Given the description of an element on the screen output the (x, y) to click on. 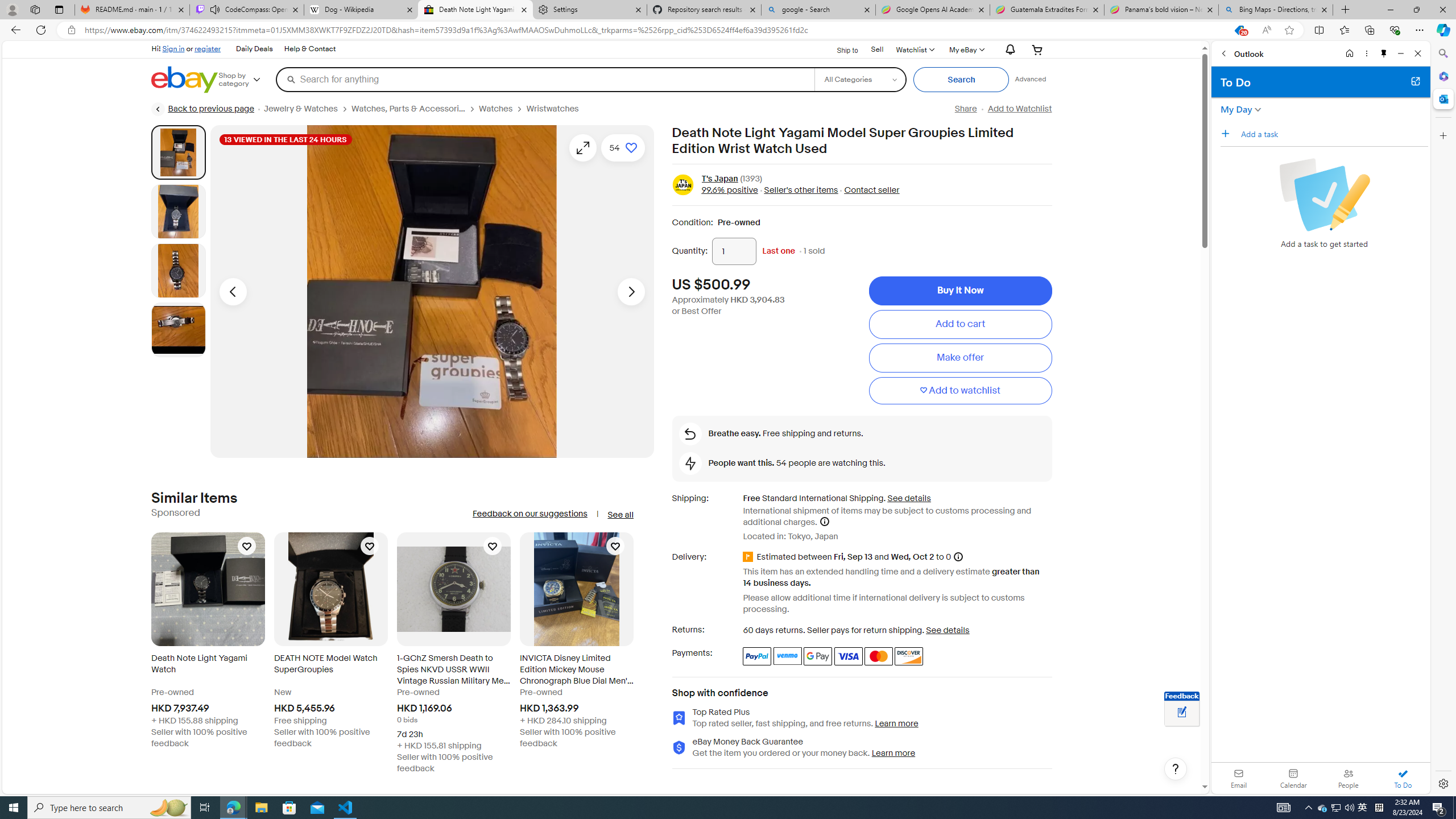
Picture 3 of 4 (178, 270)
T's Japan (719, 179)
Share (964, 108)
Contact seller (871, 190)
Checkbox with a pencil (1324, 194)
Master Card (877, 656)
Ship to (839, 50)
Your shopping cart (1037, 49)
Feedback on our suggestions (529, 513)
Wristwatches (556, 108)
Buy It Now (959, 290)
